Given the description of an element on the screen output the (x, y) to click on. 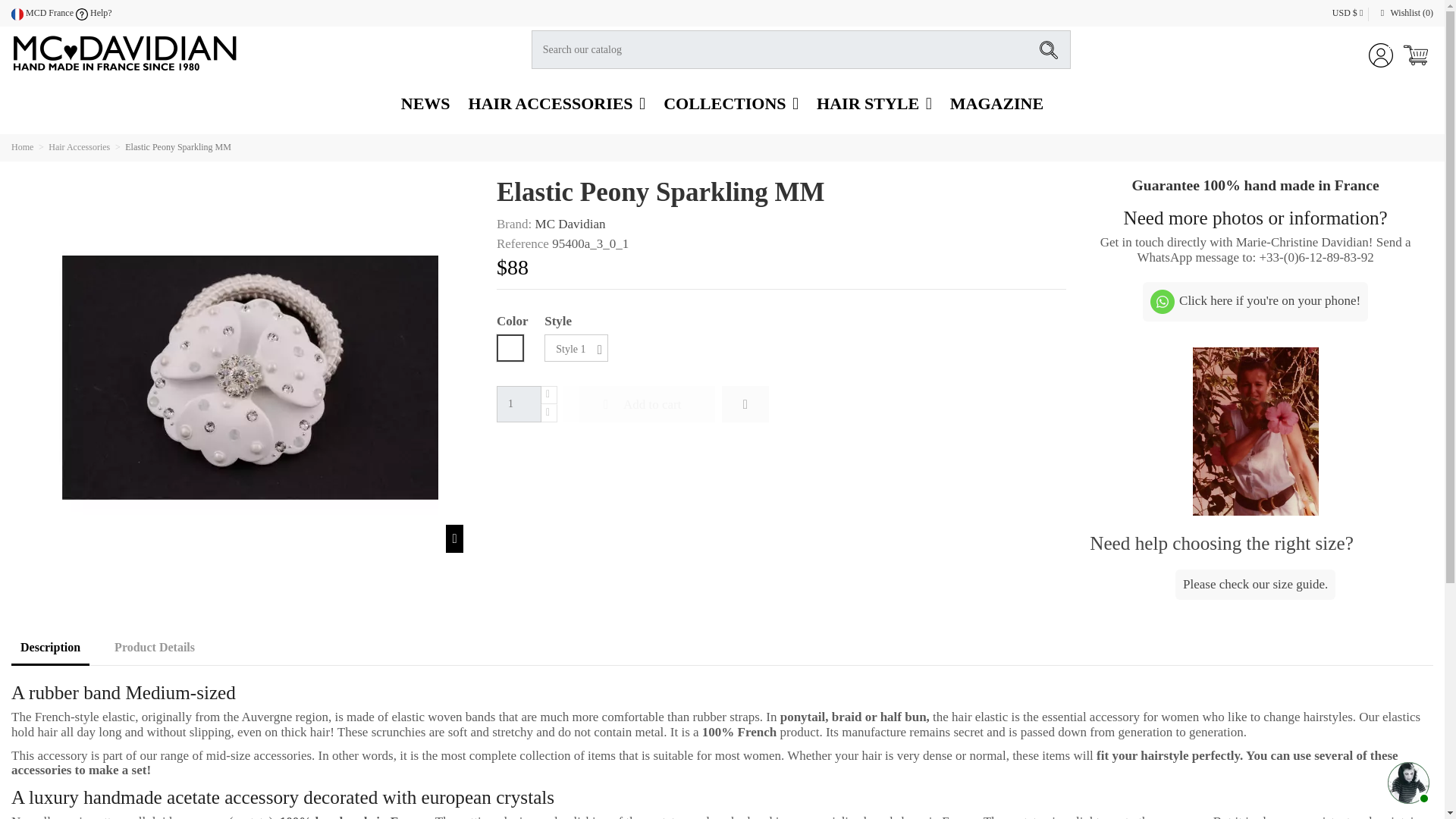
Help? (93, 12)
NEWS (425, 103)
1 (518, 403)
HAIR ACCESSORIES (557, 103)
MCD France (42, 12)
